Given the description of an element on the screen output the (x, y) to click on. 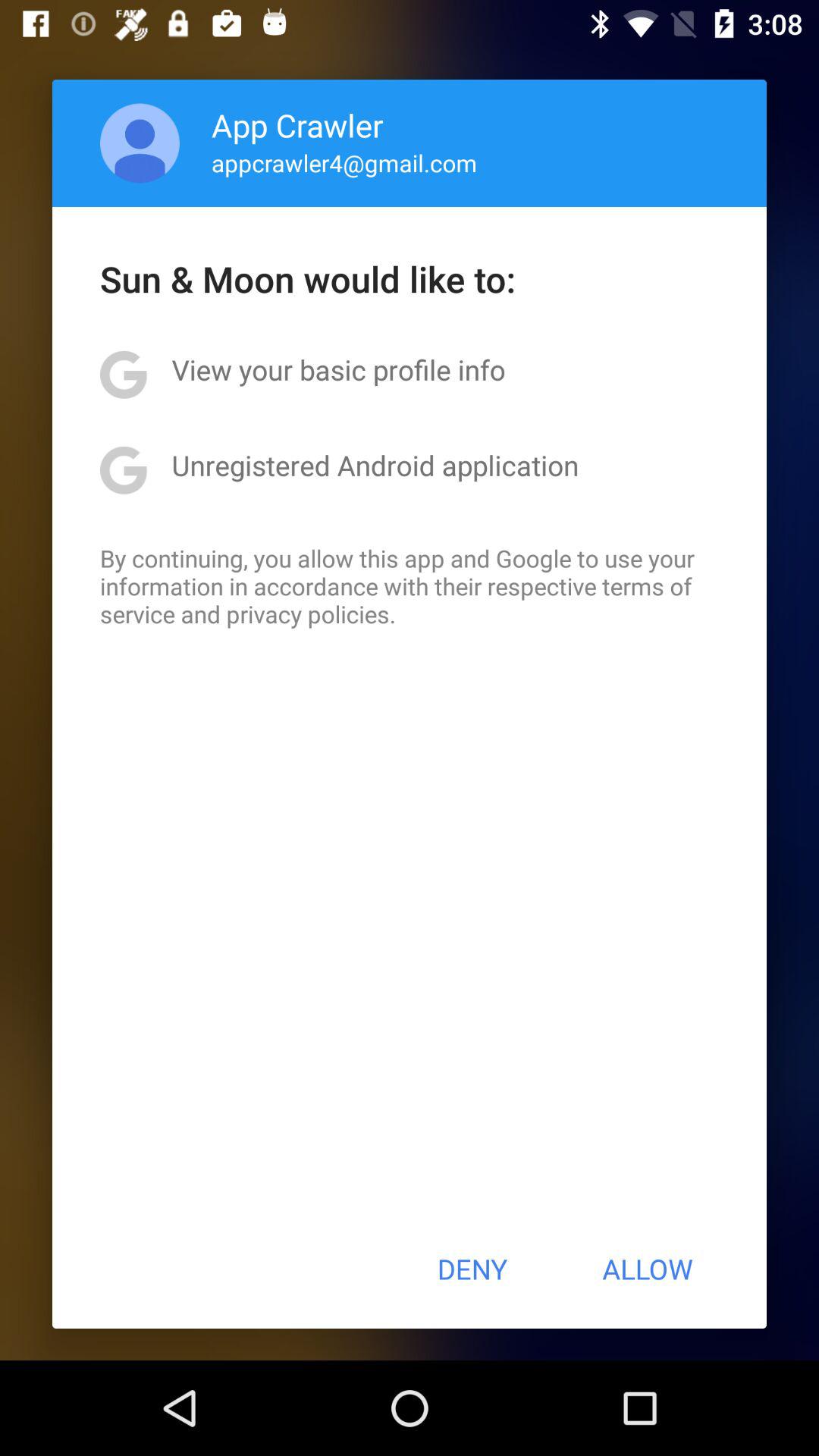
launch deny button (471, 1268)
